Given the description of an element on the screen output the (x, y) to click on. 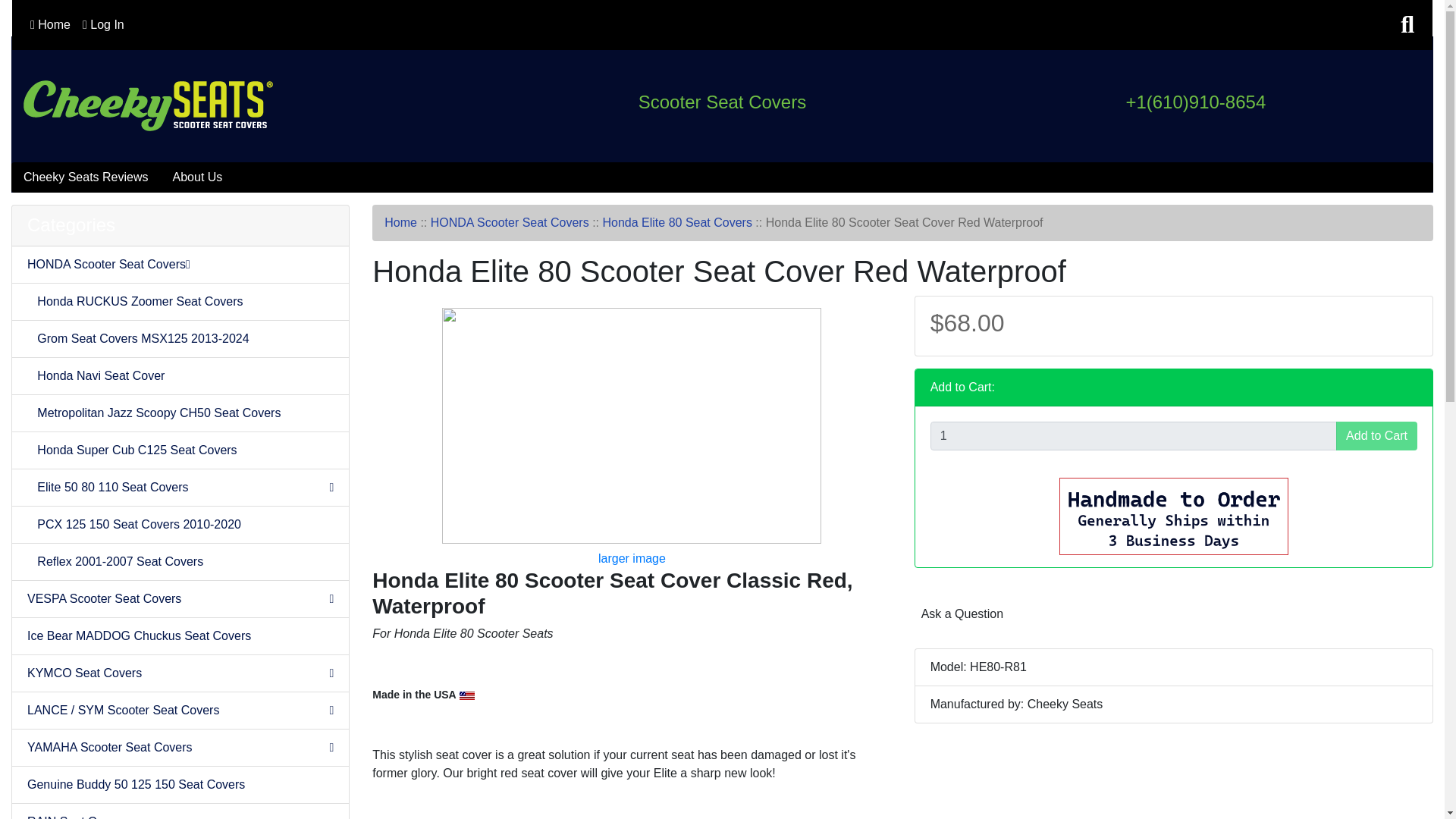
   Reflex 2001-2007 Seat Covers (180, 561)
Log In (104, 24)
   PCX 125 150 Seat Covers 2010-2020 (180, 524)
Honda Elite 80 Scooter Seat Cover Red Waterproof (631, 425)
   Honda RUCKUS Zoomer Seat Covers (180, 302)
Cheeky Seats Reviews (85, 177)
About Us (197, 177)
HONDA Scooter Seat Covers (180, 264)
Home (50, 24)
   Elite 50 80 110 Seat Covers (180, 487)
   Metropolitan Jazz Scoopy CH50 Seat Covers (180, 413)
VESPA Scooter Seat Covers (180, 599)
   Grom Seat Covers MSX125 2013-2024 (180, 339)
Cheeky Seats (148, 104)
1 (1133, 435)
